Given the description of an element on the screen output the (x, y) to click on. 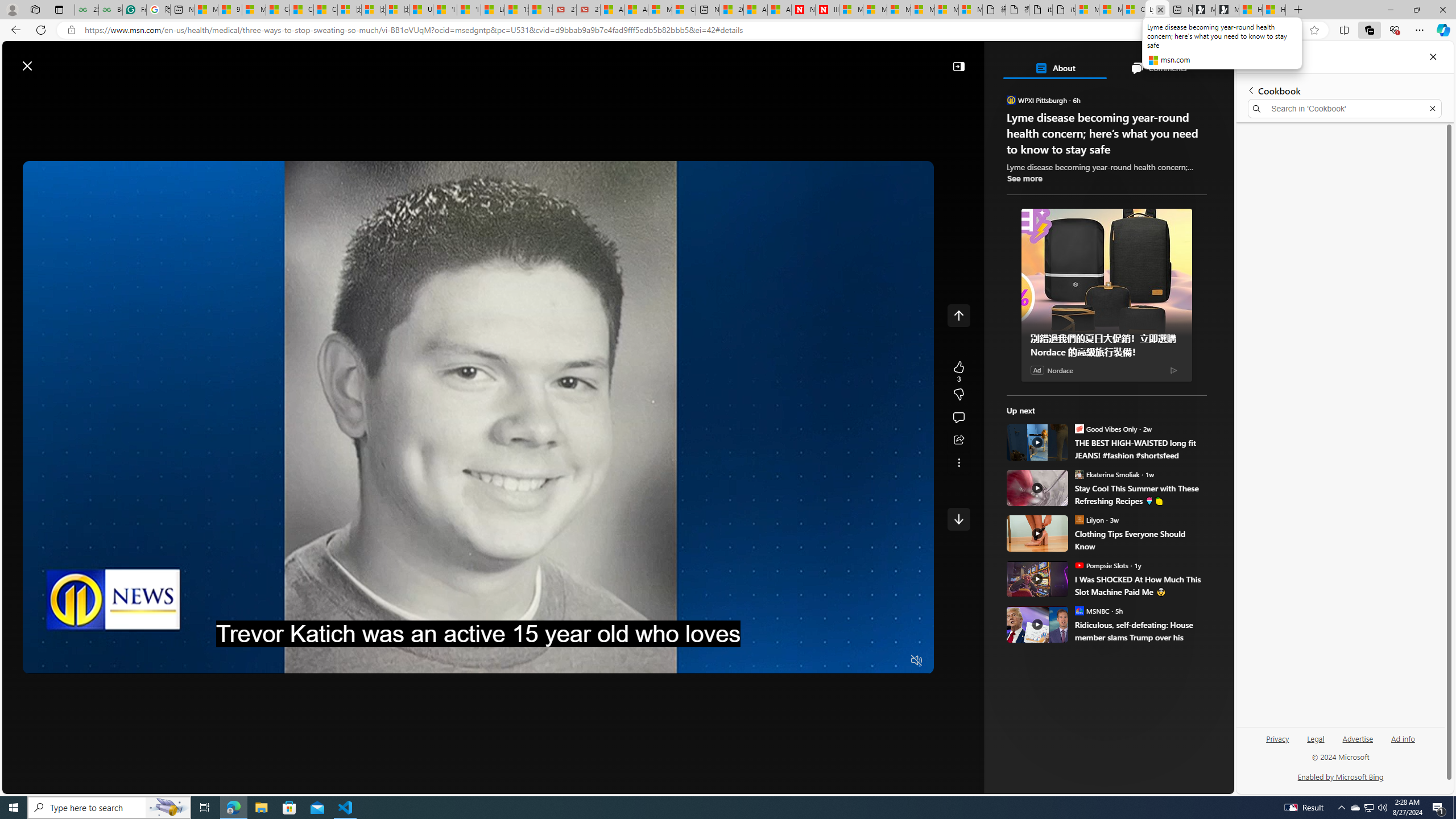
Close (1432, 56)
Personalize (1023, 92)
Skip to content (49, 59)
New Tab (1298, 9)
How to Use a TV as a Computer Monitor (1273, 9)
Watch (311, 92)
USA TODAY - MSN (421, 9)
Collections (1267, 56)
Workspaces (34, 9)
21 Movies That Outdid the Books They Were Based On (588, 9)
Unmute (916, 660)
Settings and more (Alt+F) (1419, 29)
Add this page to favorites (Ctrl+D) (1314, 29)
